Given the description of an element on the screen output the (x, y) to click on. 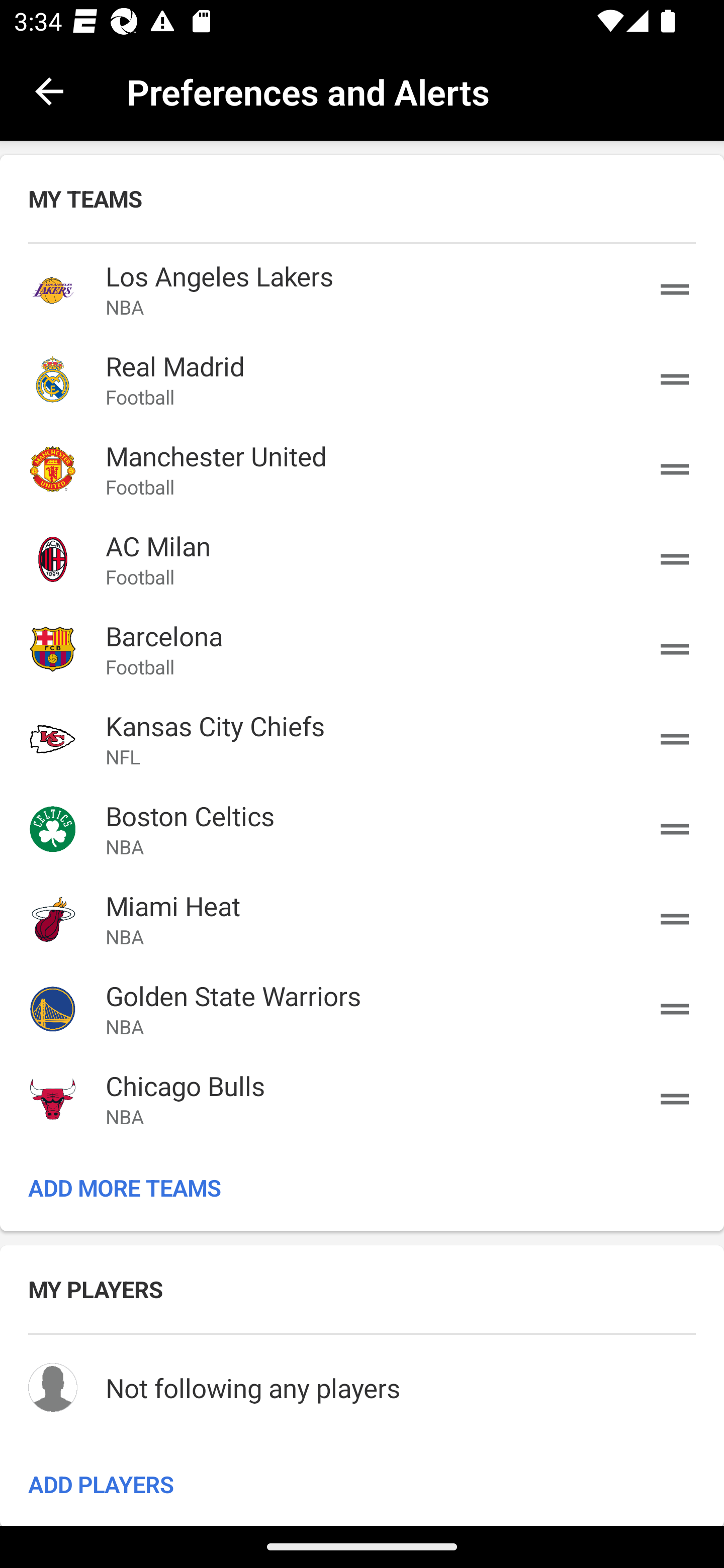
back.button (49, 90)
AC Milan AC Milan AC Milan Football Football (362, 558)
Barcelona Barcelona Barcelona Football Football (362, 648)
Miami Heat Miami Heat Miami Heat NBA NBA (362, 918)
Chicago Bulls Chicago Bulls Chicago Bulls NBA NBA (362, 1098)
ADD MORE TEAMS (362, 1186)
ADD PLAYERS (362, 1482)
